Given the description of an element on the screen output the (x, y) to click on. 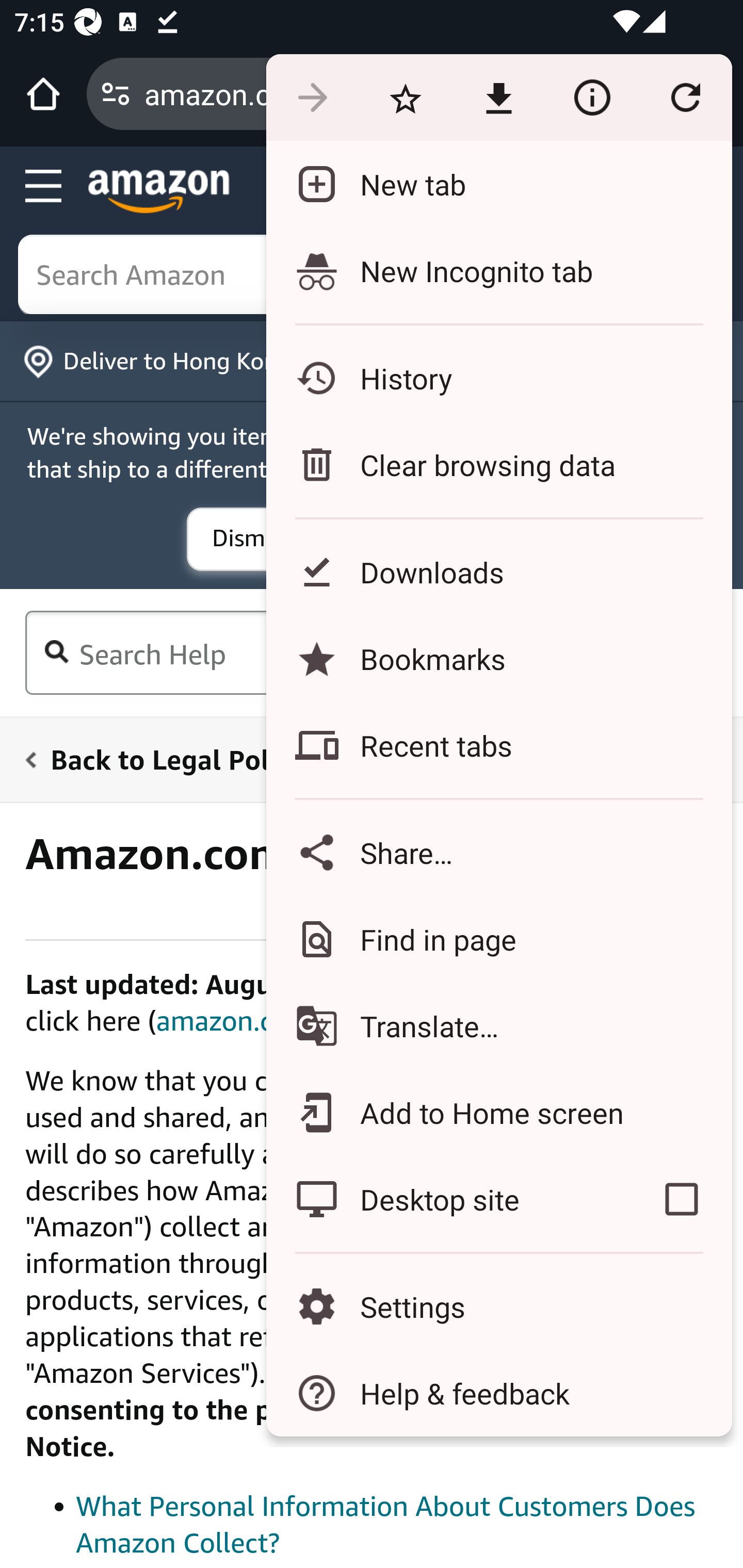
Forward (311, 97)
Bookmark (404, 97)
Download (498, 97)
Page info (591, 97)
Refresh (684, 97)
New tab (498, 184)
New Incognito tab (498, 270)
History (498, 377)
Clear browsing data (498, 464)
Downloads (498, 571)
Bookmarks (498, 658)
Recent tabs (498, 745)
Share… (498, 852)
Find in page (498, 939)
Translate… (498, 1026)
Add to Home screen (498, 1112)
Desktop site Turn on Request desktop site (447, 1198)
Settings (498, 1306)
Help & feedback (498, 1393)
